Given the description of an element on the screen output the (x, y) to click on. 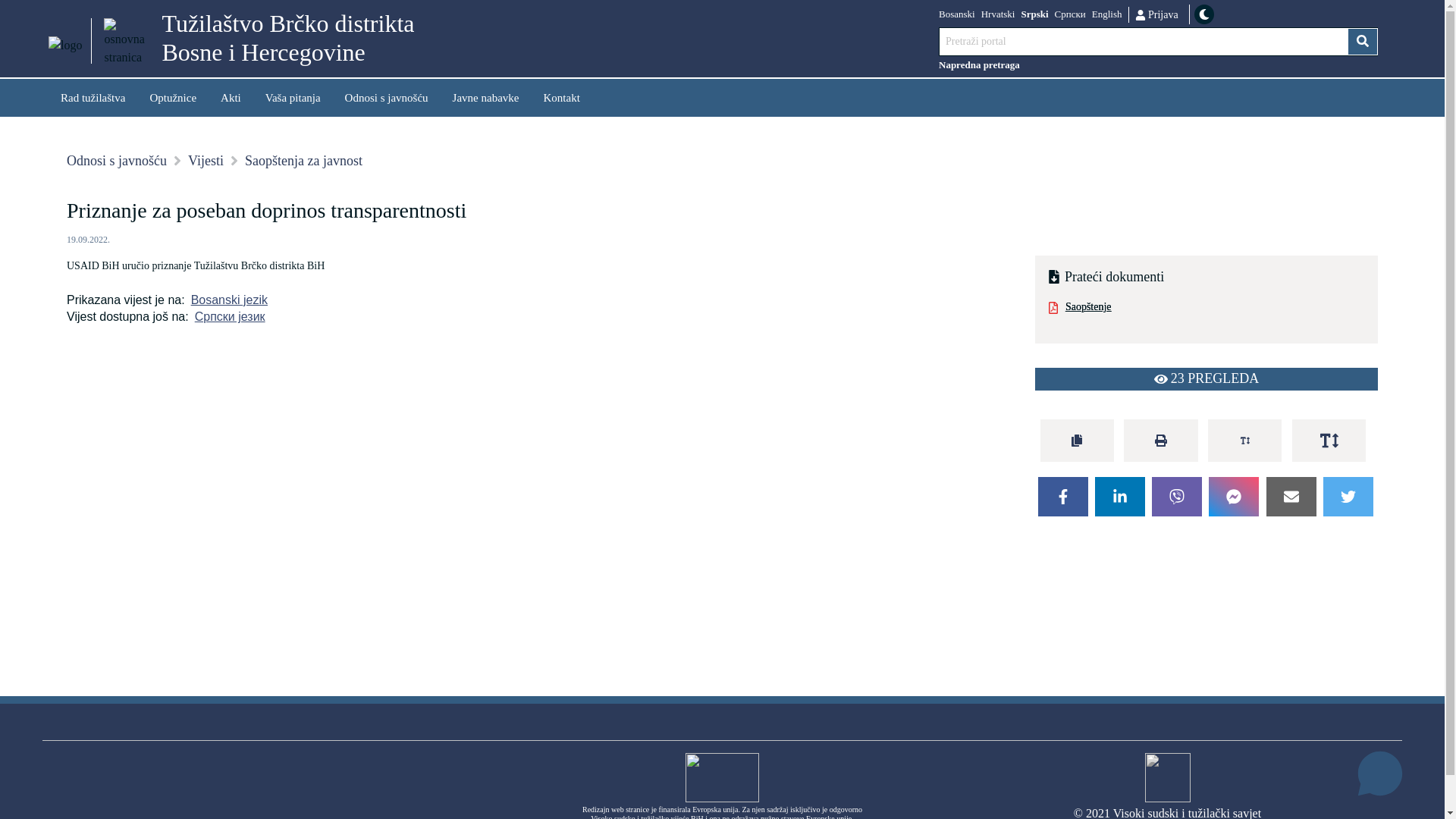
Vijesti Element type: text (205, 160)
Kontakt Element type: text (560, 97)
Napredna pretraga Element type: text (1157, 65)
Prijava Element type: text (1155, 13)
Akti Element type: text (230, 97)
Bosanski jezik Element type: text (226, 299)
Javne nabavke Element type: text (485, 97)
